Given the description of an element on the screen output the (x, y) to click on. 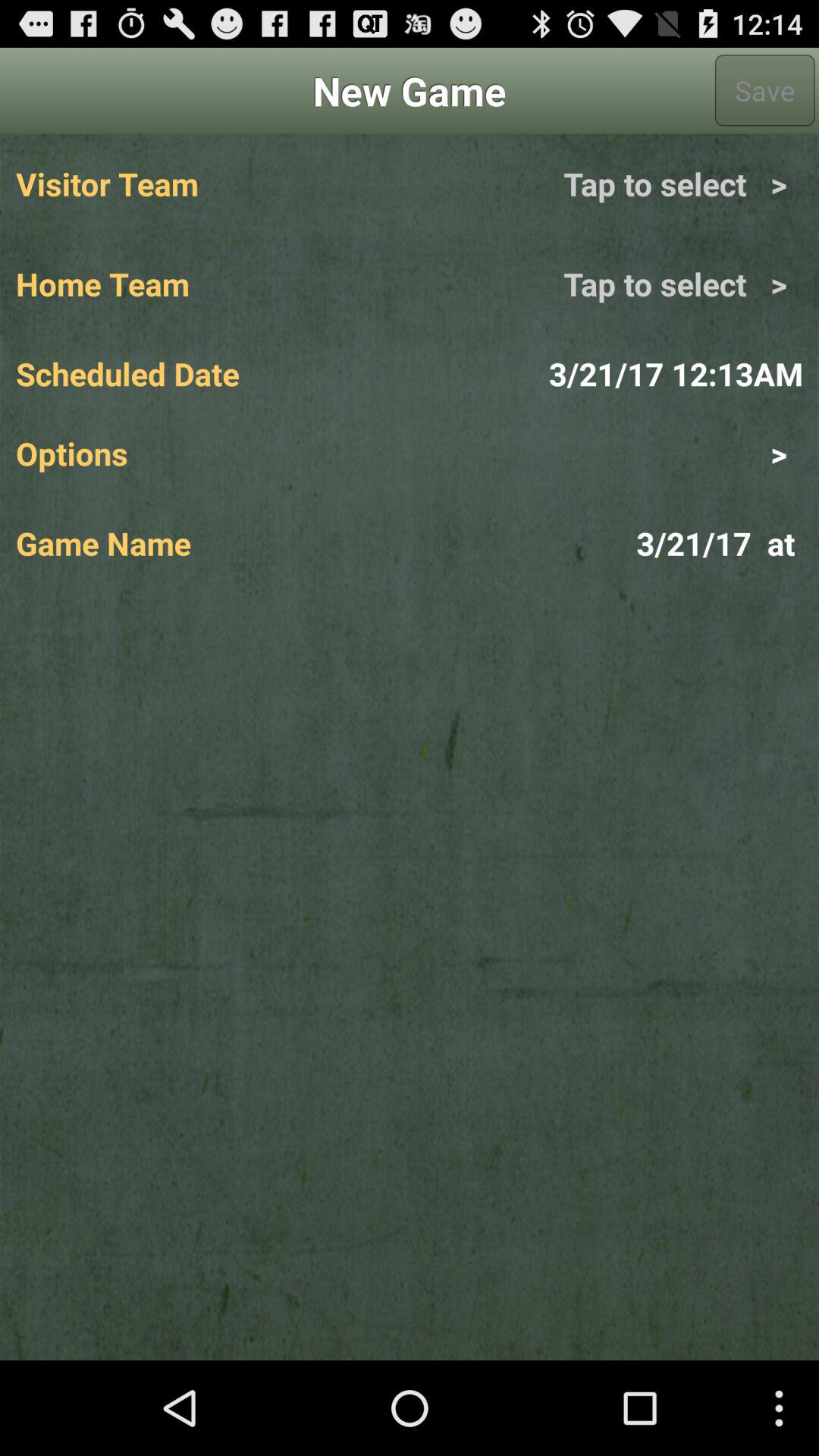
open the save (764, 90)
